Given the description of an element on the screen output the (x, y) to click on. 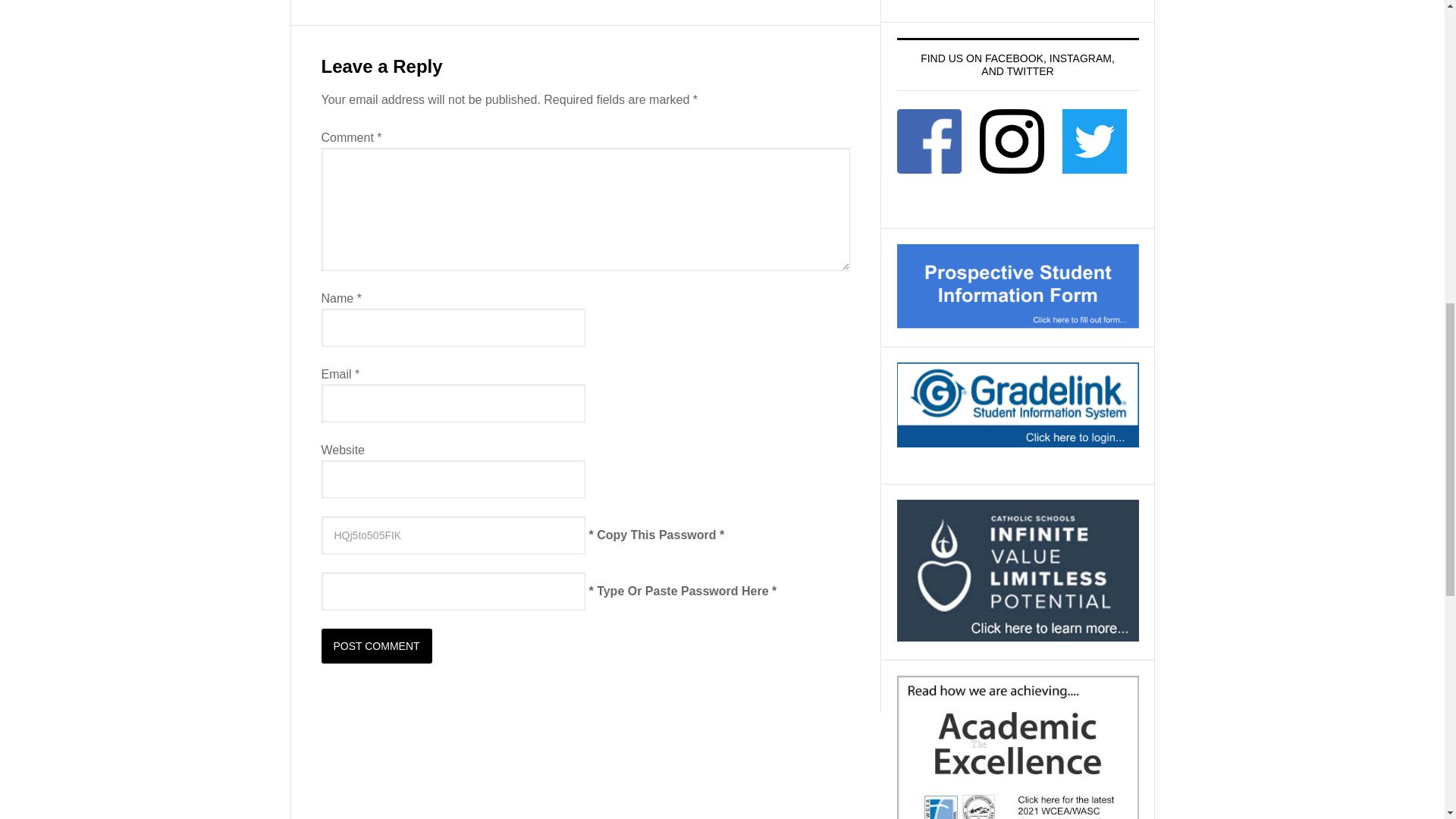
Post Comment (376, 645)
HQj5to505FIK (453, 535)
